Given the description of an element on the screen output the (x, y) to click on. 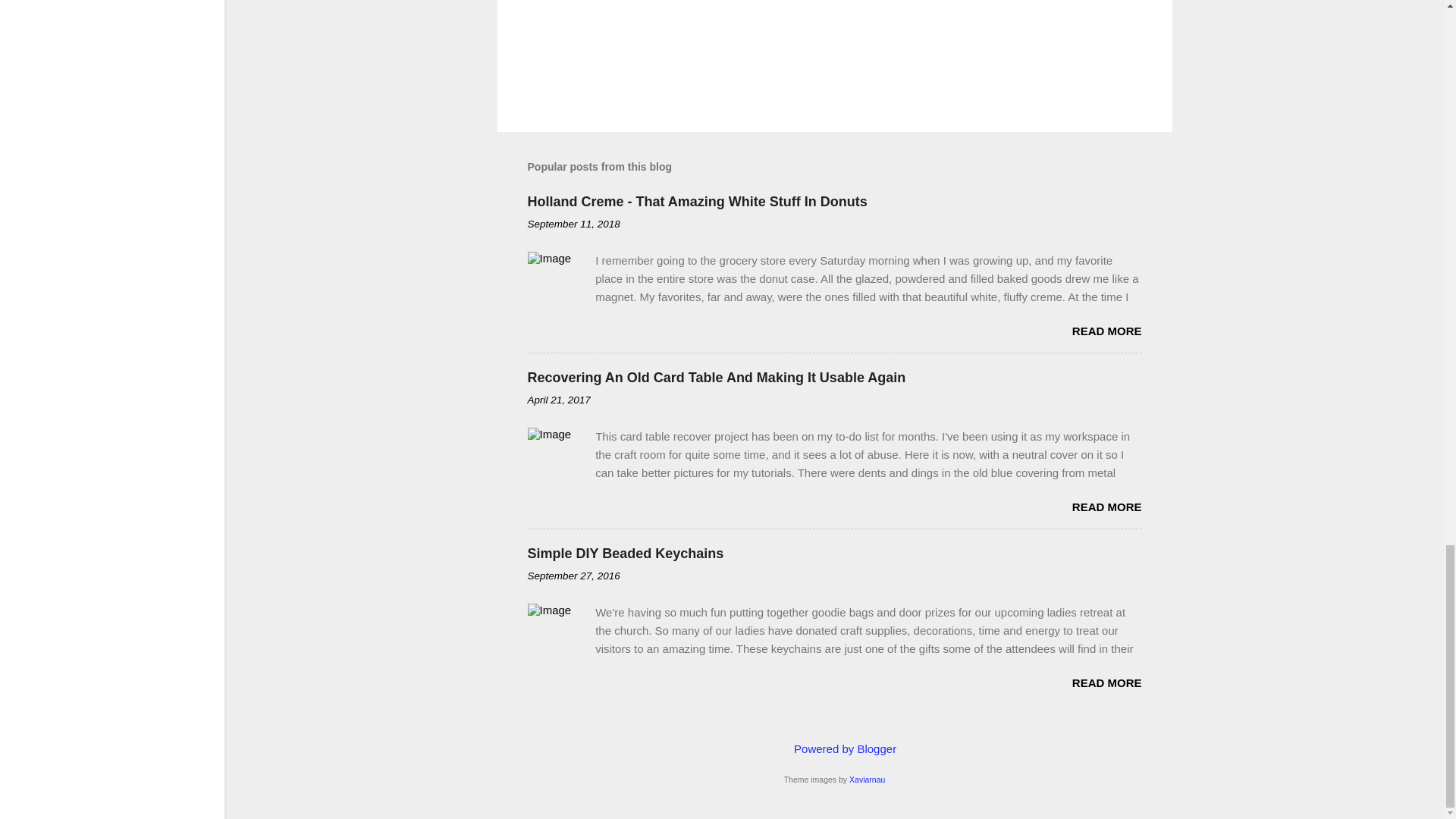
READ MORE (1106, 506)
Recovering An Old Card Table And Making It Usable Again (716, 377)
April 21, 2017 (559, 399)
Xaviarnau (866, 778)
Simple DIY Beaded Keychains (625, 553)
READ MORE (1106, 330)
September 11, 2018 (573, 224)
September 27, 2016 (573, 575)
READ MORE (1106, 682)
Holland Creme - That Amazing White Stuff In Donuts (697, 201)
Powered by Blogger (834, 748)
permanent link (573, 224)
